Given the description of an element on the screen output the (x, y) to click on. 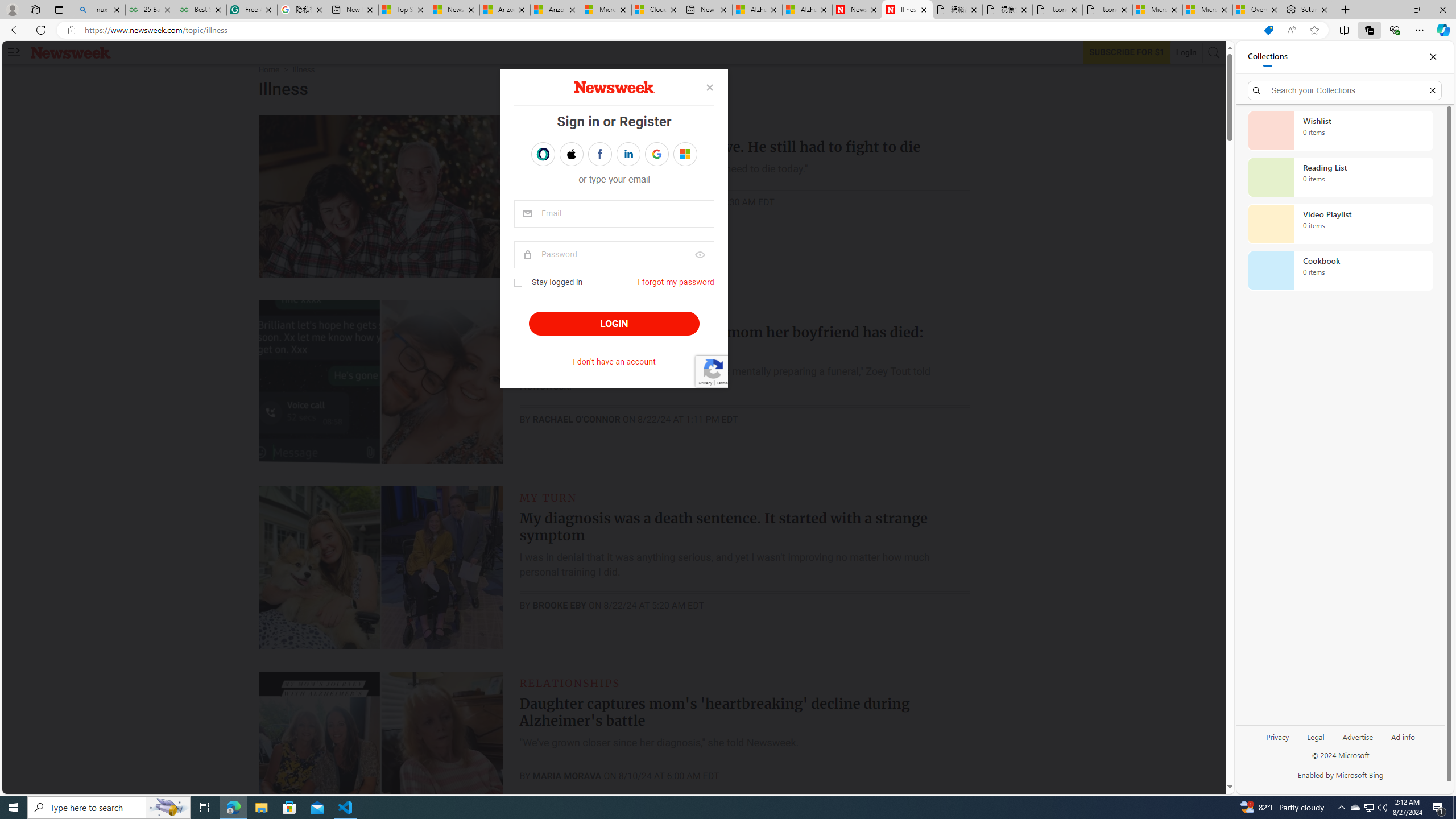
Eugene (677, 153)
Class: checkbox (517, 282)
Add this page to favorites (Ctrl+D) (1314, 29)
Read aloud this page (Ctrl+Shift+U) (1291, 29)
Home (268, 68)
ON THE INTERNET (576, 312)
Subscribe to our service (1126, 52)
New tab (706, 9)
Sign in with LINKEDIN (627, 154)
News - MSN (453, 9)
Newsweek - News, Analysis, Politics, Business, Technology (856, 9)
App bar (728, 29)
Video Playlist collection, 0 items (1339, 223)
Minimize (1390, 9)
